Given the description of an element on the screen output the (x, y) to click on. 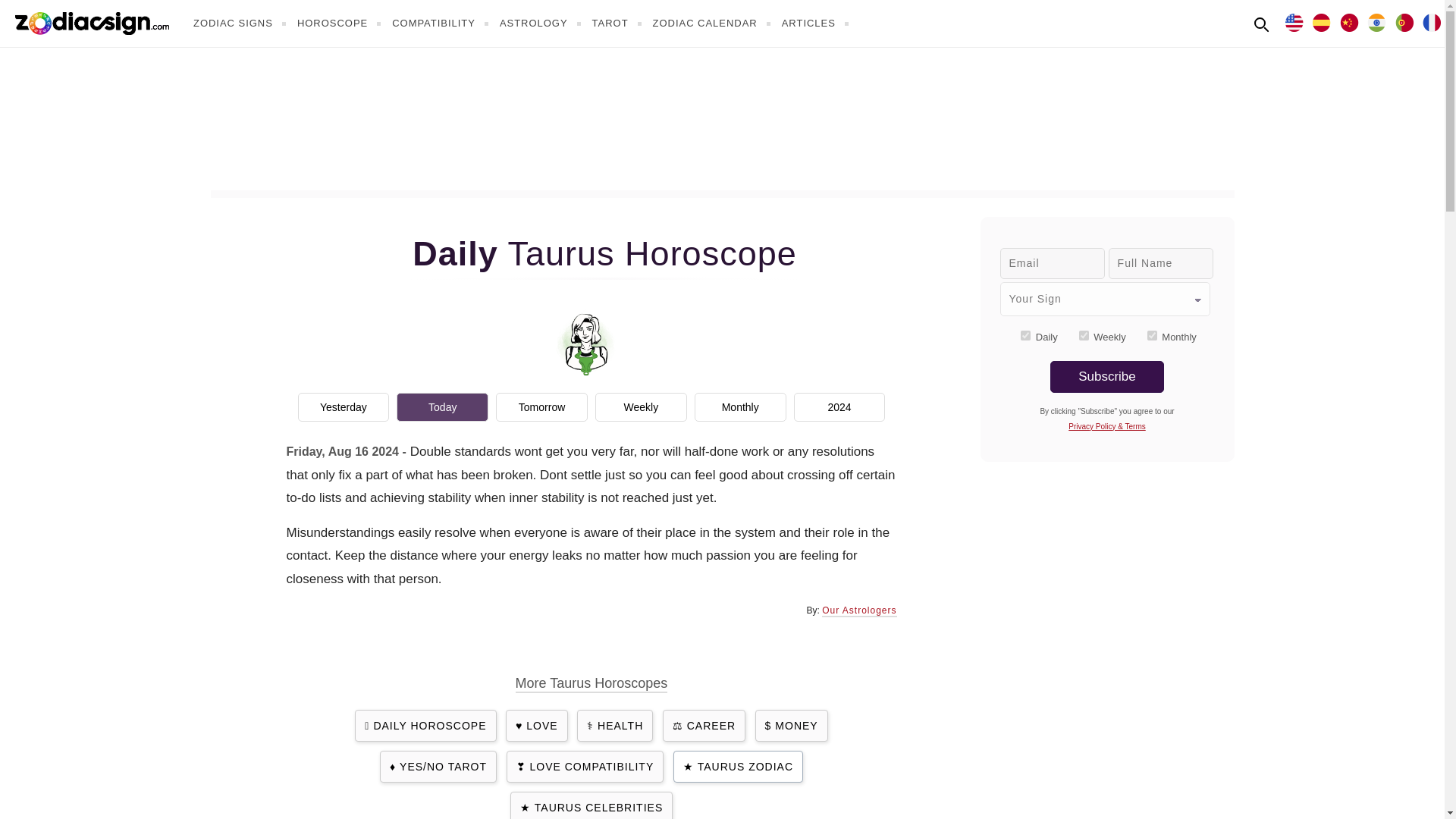
daily (1025, 335)
In English (1294, 21)
weekly (1083, 335)
HOROSCOPE (341, 23)
ZODIAC SIGNS (241, 23)
monthly (1152, 335)
